Given the description of an element on the screen output the (x, y) to click on. 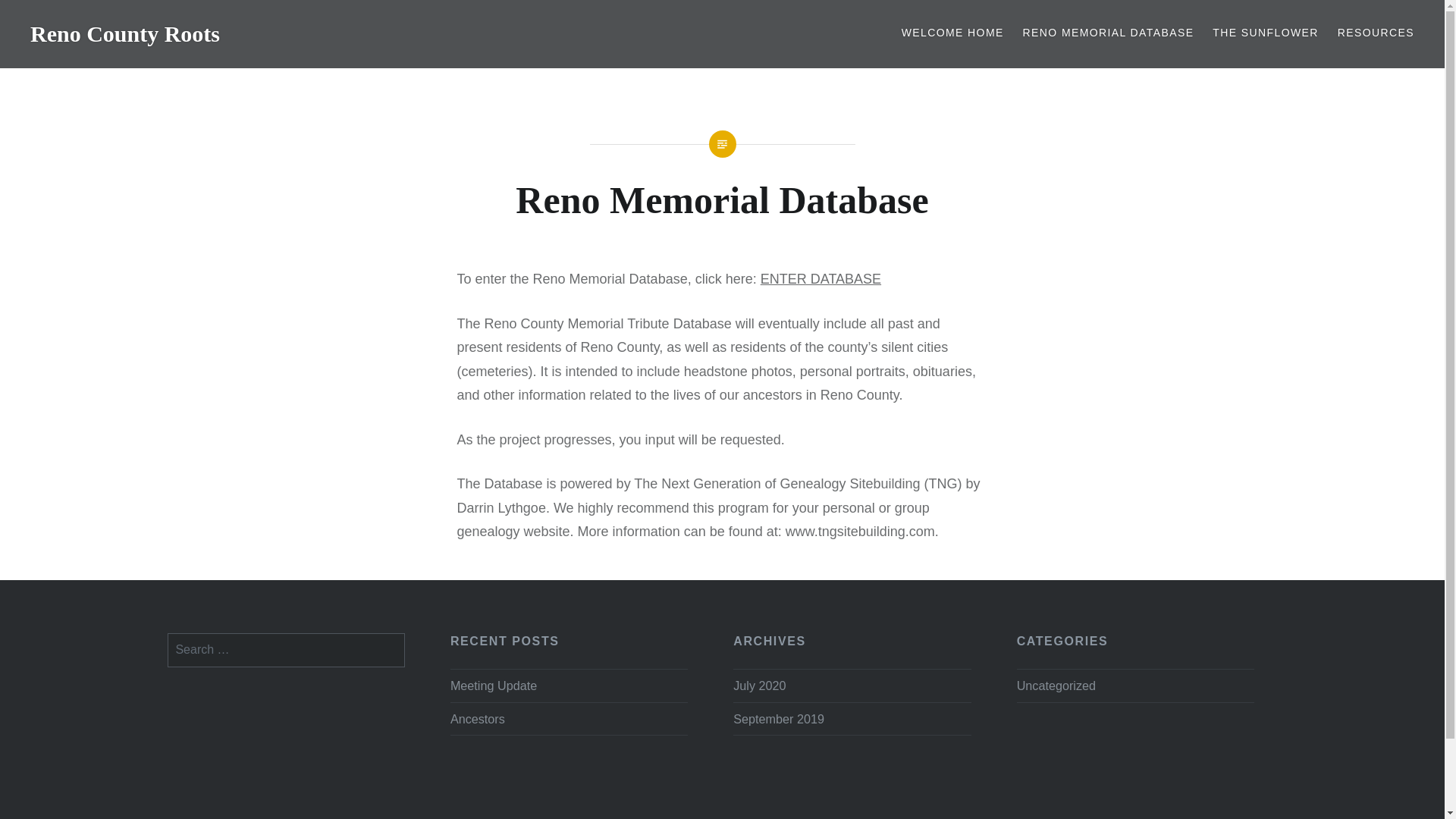
Uncategorized (1056, 685)
Search (578, 19)
July 2020 (759, 685)
Ancestors (568, 718)
RESOURCES (1375, 32)
September 2019 (778, 718)
THE SUNFLOWER (1265, 32)
ENTER DATABASE (820, 278)
RENO MEMORIAL DATABASE (1108, 32)
WELCOME HOME (952, 32)
Reno County Roots (124, 33)
Meeting Update (568, 685)
